Given the description of an element on the screen output the (x, y) to click on. 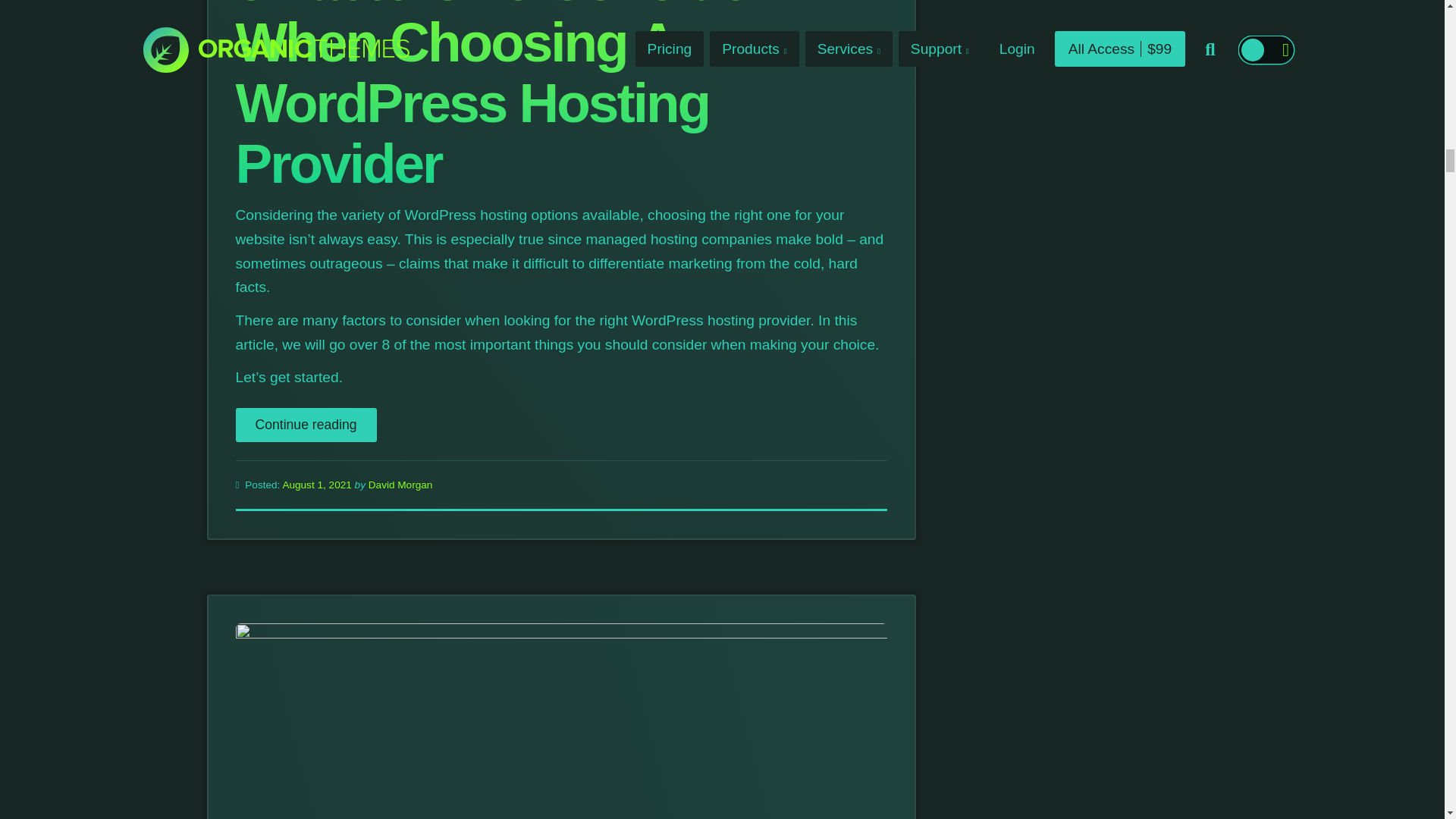
4:10 am (317, 484)
Posts by David Morgan (400, 484)
